Given the description of an element on the screen output the (x, y) to click on. 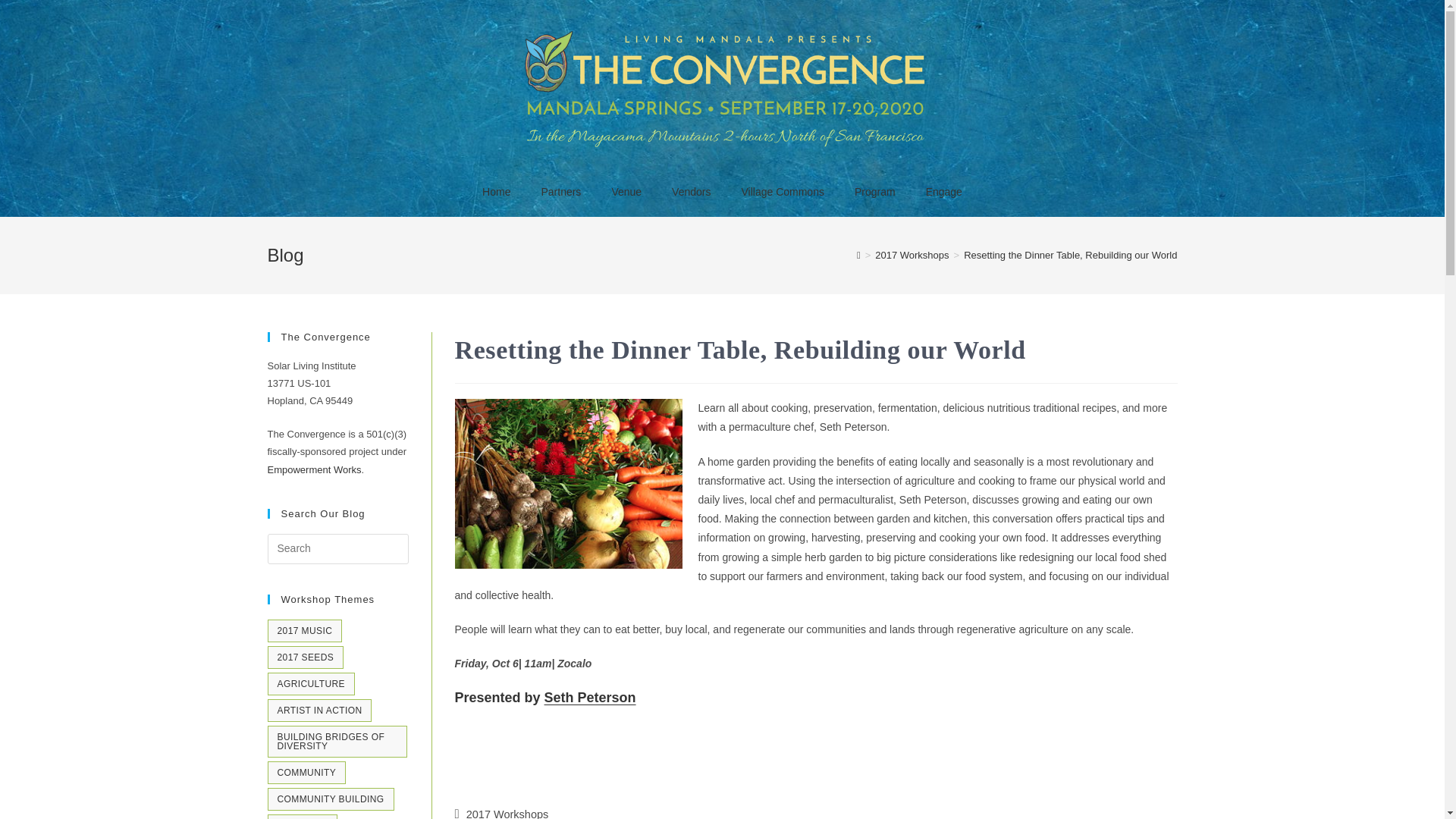
Venue (625, 191)
Vendors (690, 191)
Home (496, 191)
Village Commons (781, 191)
Partners (560, 191)
Program (875, 191)
